Given the description of an element on the screen output the (x, y) to click on. 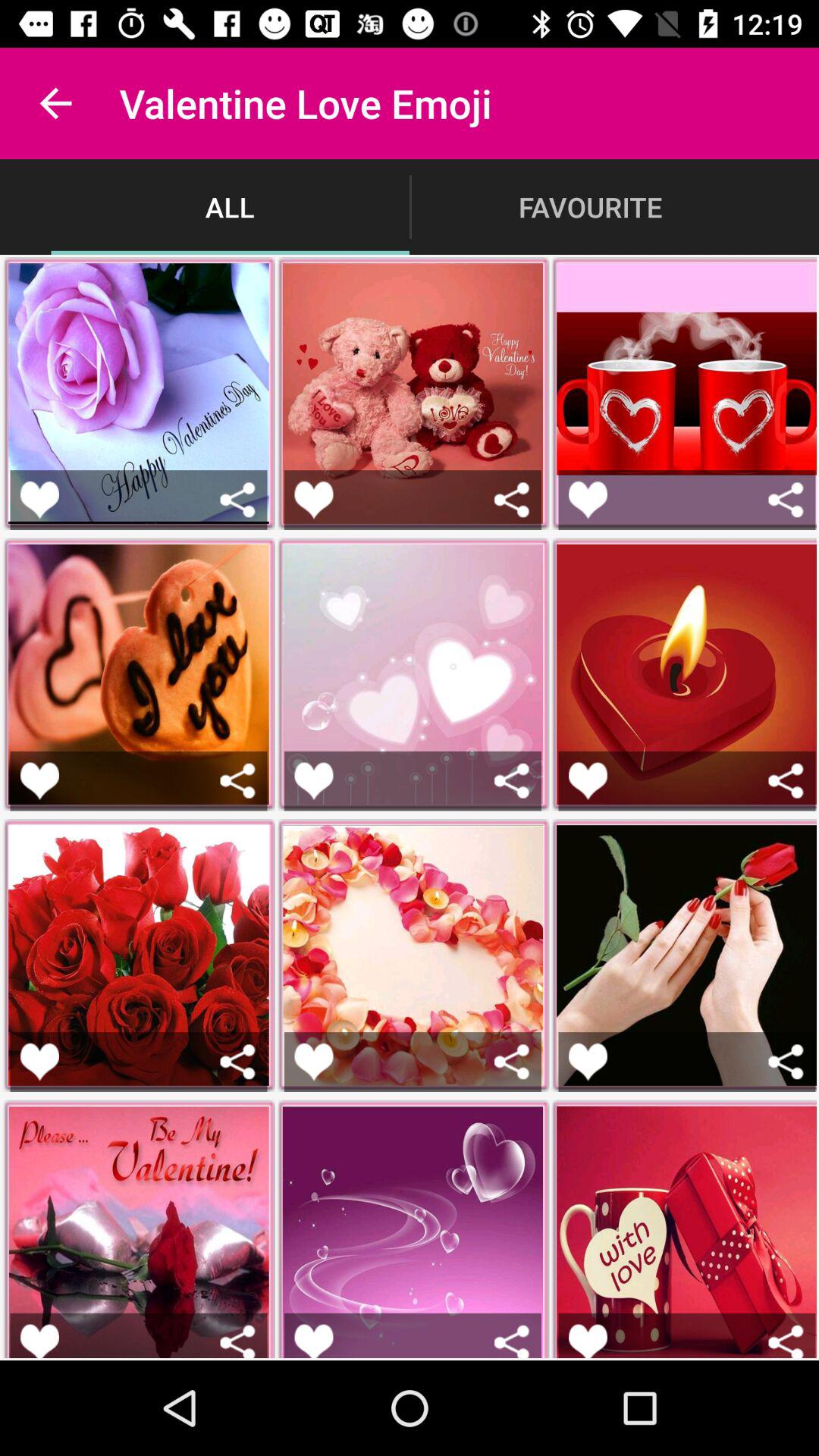
add to favourite (39, 780)
